Given the description of an element on the screen output the (x, y) to click on. 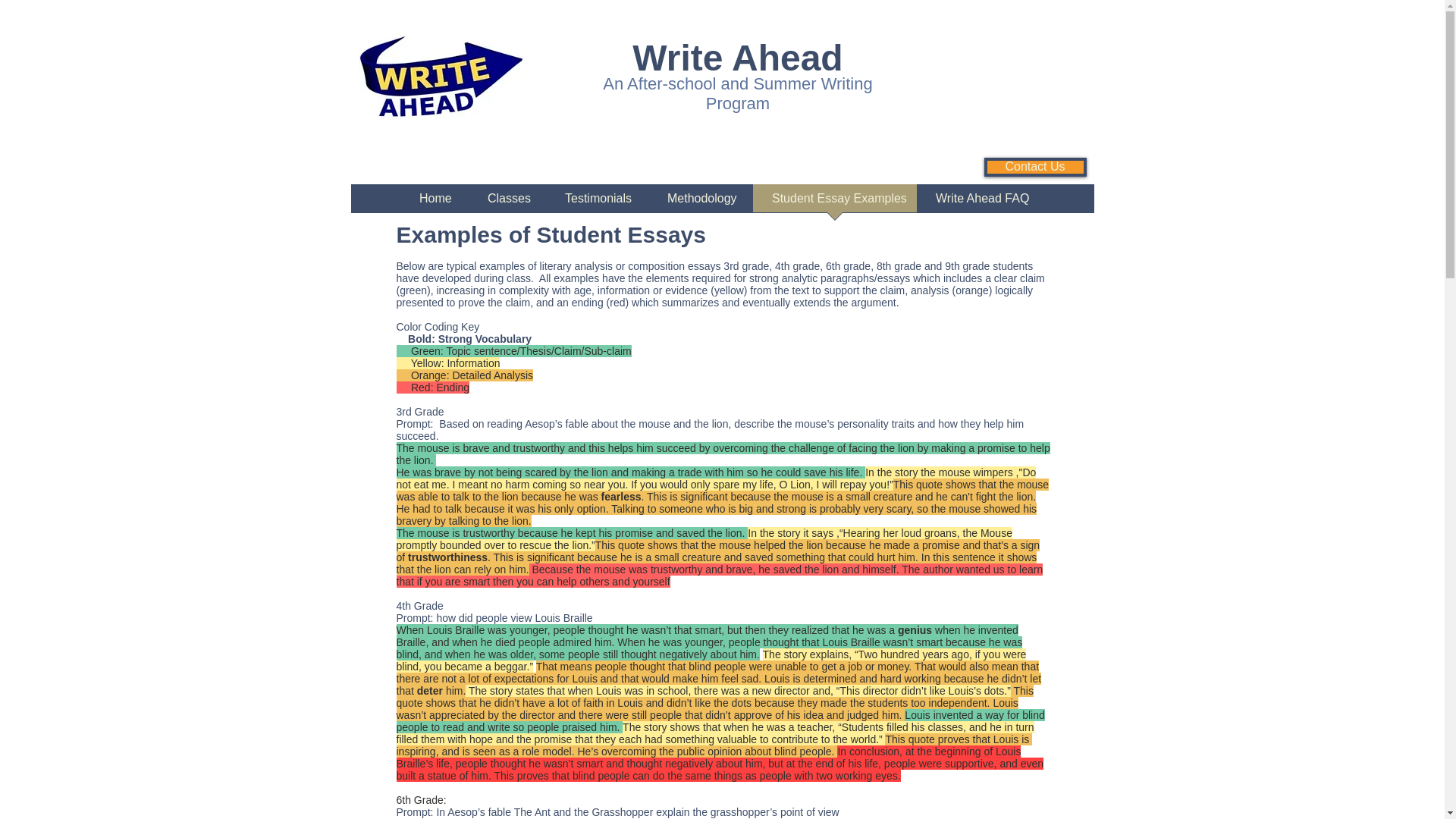
Methodology (699, 202)
Home (434, 202)
Student Essay Examples (834, 202)
Write Ahead FAQ (980, 202)
Classes (507, 202)
Testimonials (596, 202)
Contact Us (1035, 167)
